Given the description of an element on the screen output the (x, y) to click on. 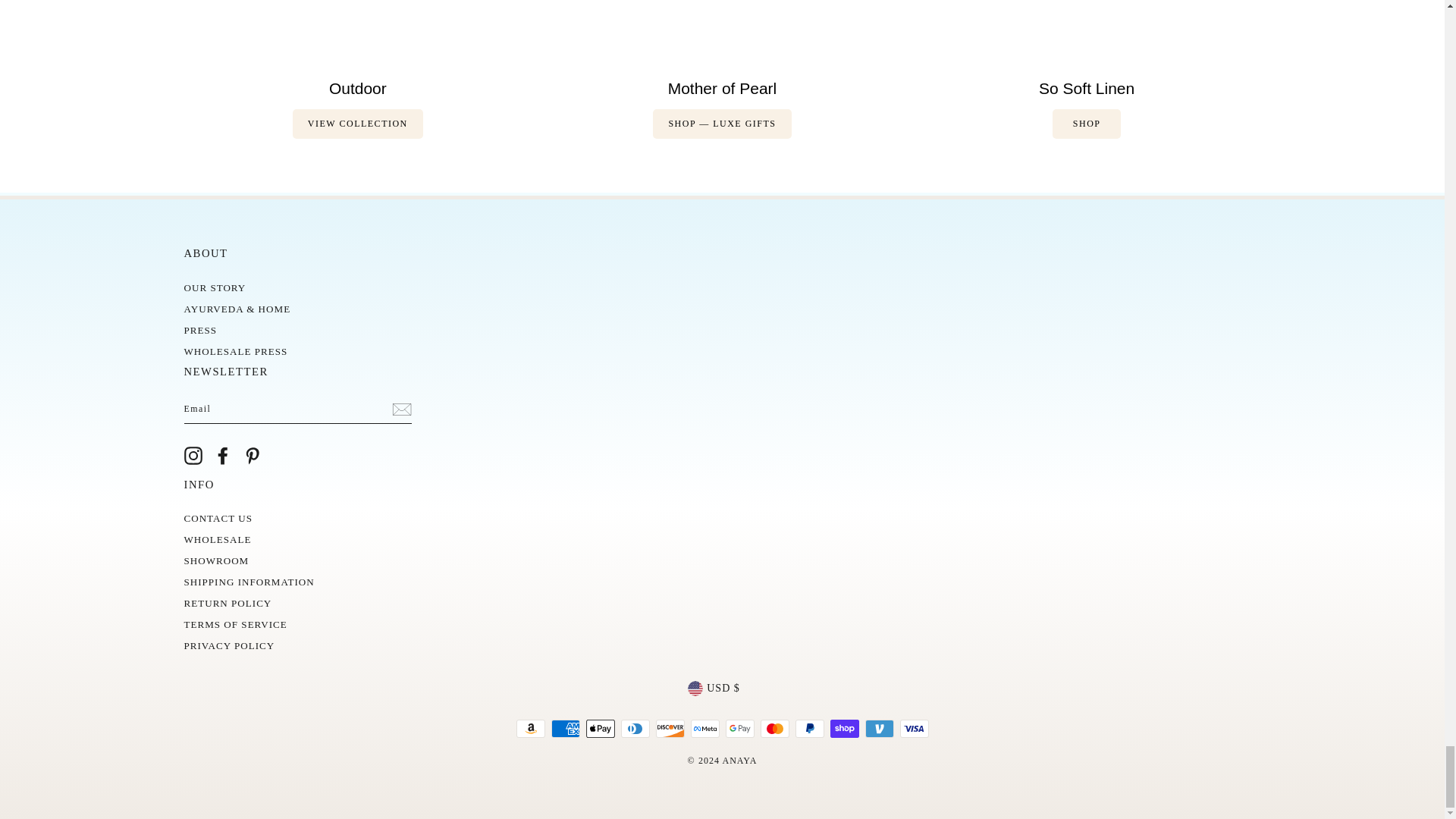
Meta Pay (704, 728)
Venmo (878, 728)
Apple Pay (599, 728)
Diners Club (634, 728)
Discover (669, 728)
Google Pay (739, 728)
Anaya on Pinterest (251, 455)
PayPal (809, 728)
Anaya on Facebook (222, 455)
Mastercard (774, 728)
